Given the description of an element on the screen output the (x, y) to click on. 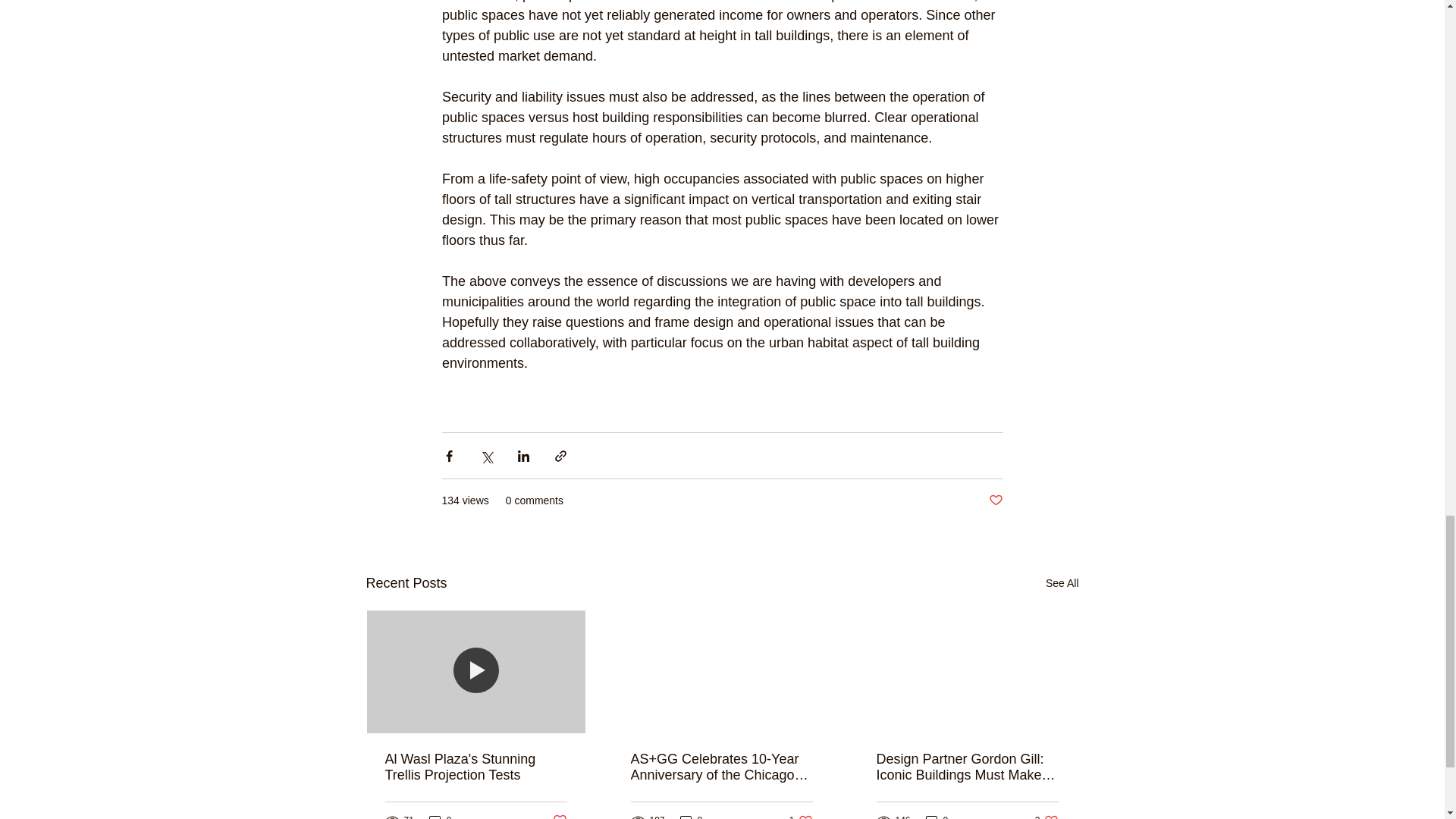
Post not marked as liked (558, 816)
Post not marked as liked (995, 500)
See All (1061, 583)
Al Wasl Plaza's Stunning Trellis Projection Tests (476, 766)
0 (440, 816)
